Given the description of an element on the screen output the (x, y) to click on. 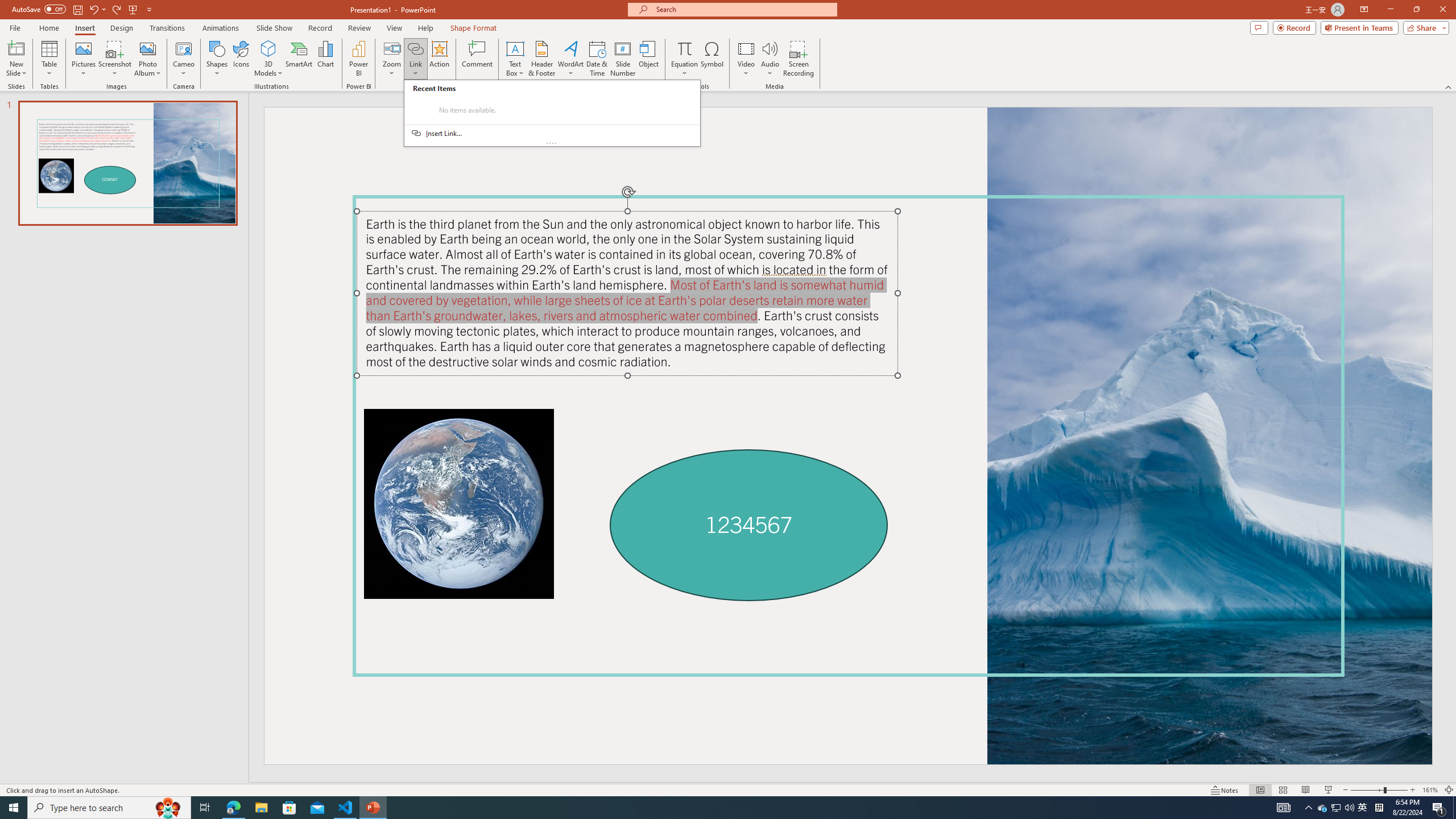
L&ink (551, 112)
Slide Number (622, 58)
Action (439, 58)
Comment (476, 58)
Draw Horizontal Text Box (515, 48)
